Given the description of an element on the screen output the (x, y) to click on. 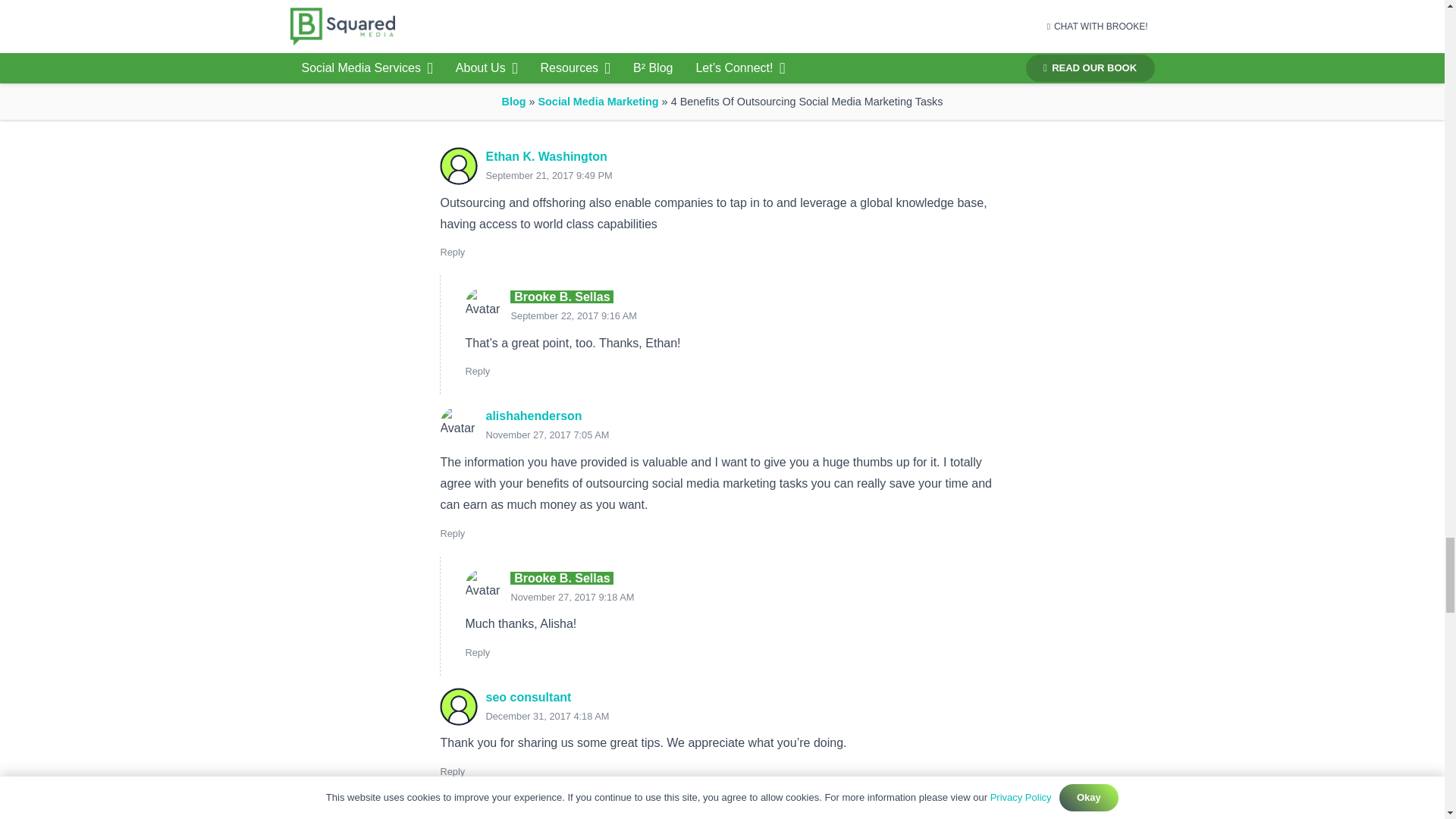
November 27, 2017 7:05 AM (546, 434)
September 21, 2017 9:49 PM (547, 174)
September 22, 2017 9:16 AM (573, 315)
December 31, 2017 4:18 AM (546, 715)
November 27, 2017 9:18 AM (572, 596)
